Given the description of an element on the screen output the (x, y) to click on. 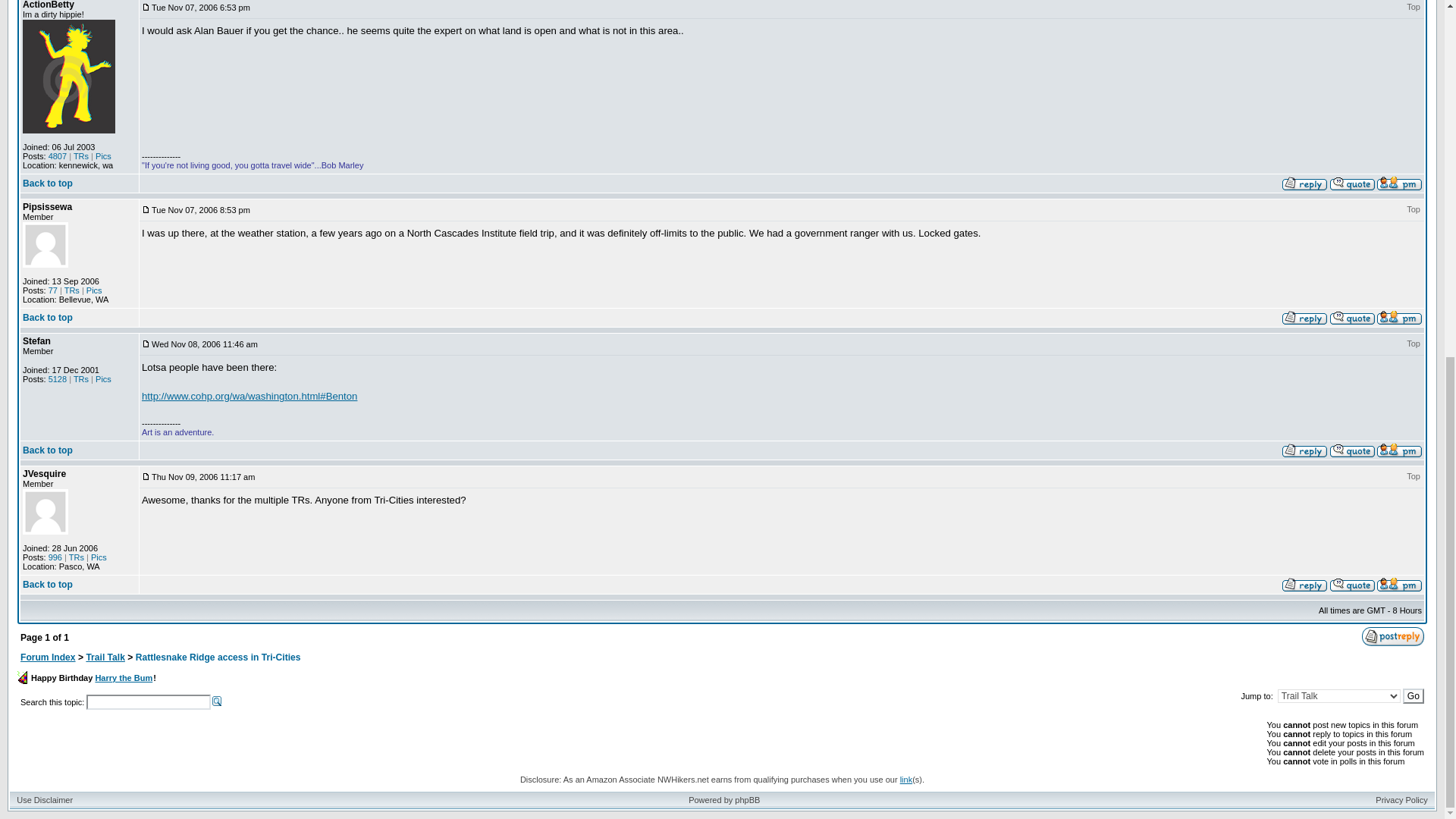
Go (1413, 695)
